Given the description of an element on the screen output the (x, y) to click on. 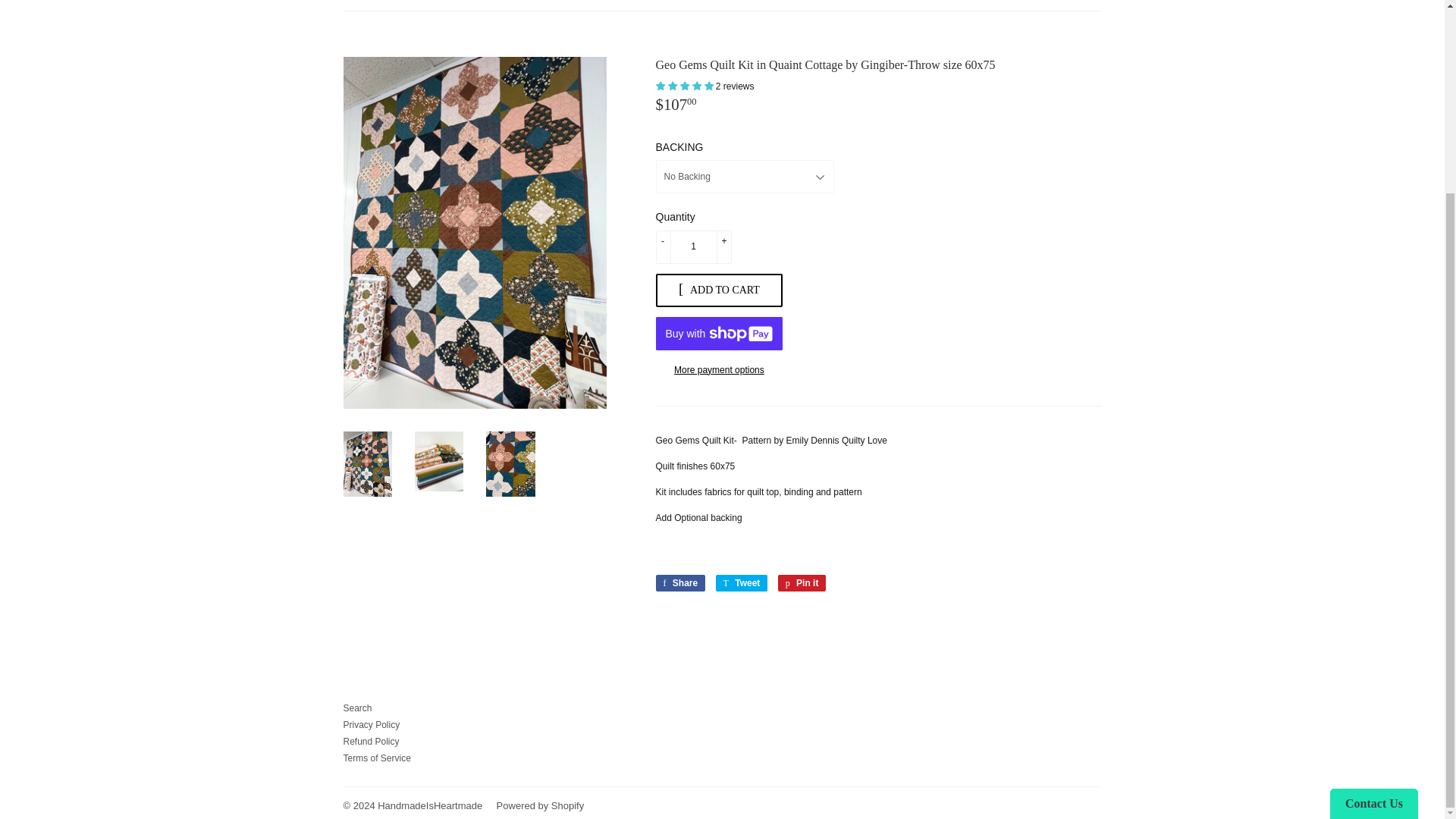
1 (692, 246)
